Given the description of an element on the screen output the (x, y) to click on. 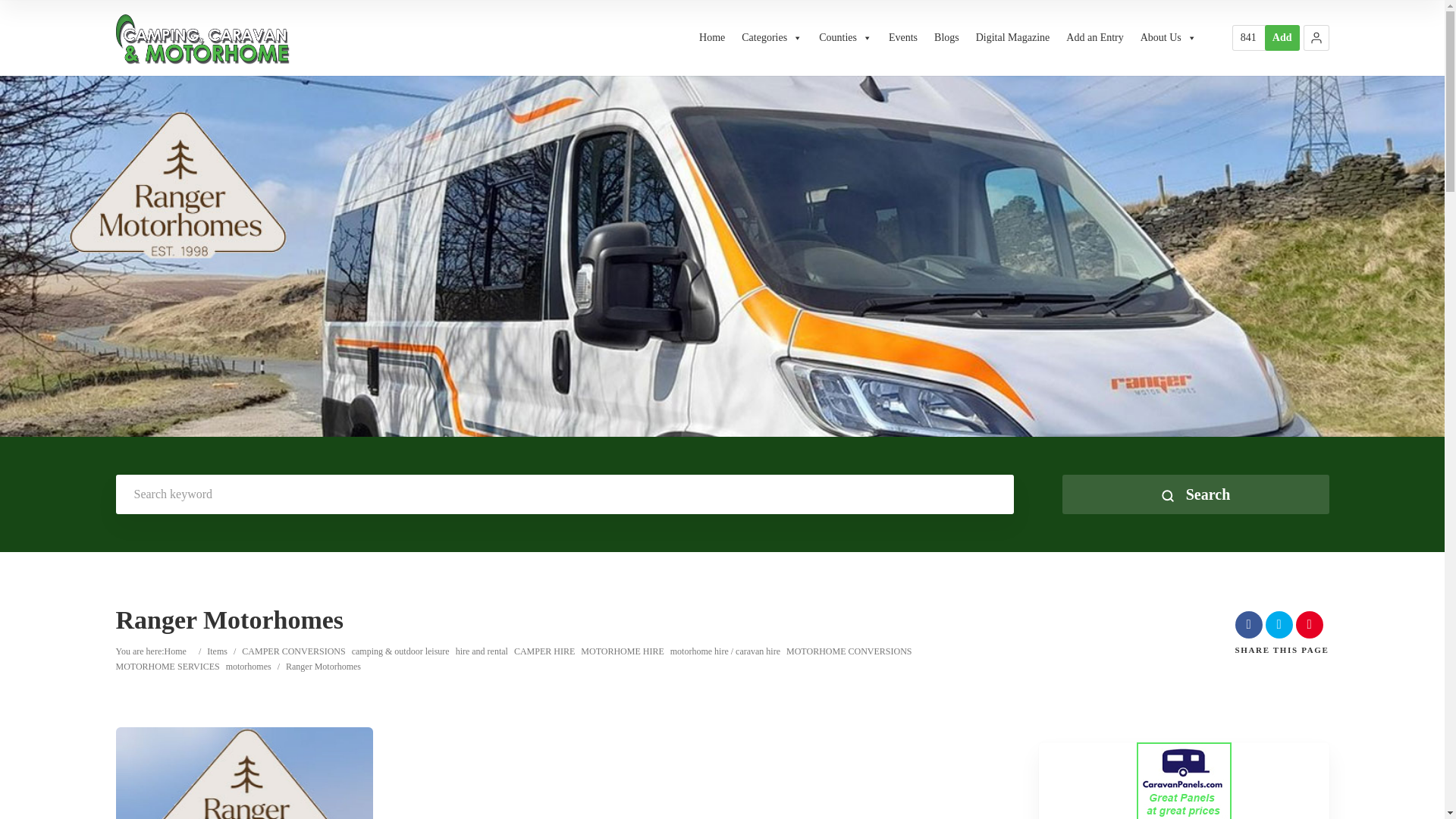
Categories (771, 37)
Home (711, 37)
Resources (1248, 37)
Search (1194, 494)
Search (1194, 494)
Items (219, 651)
Ranger Motorhomes (58, 773)
Counties (844, 37)
Ranger Motorhomes (243, 773)
